Given the description of an element on the screen output the (x, y) to click on. 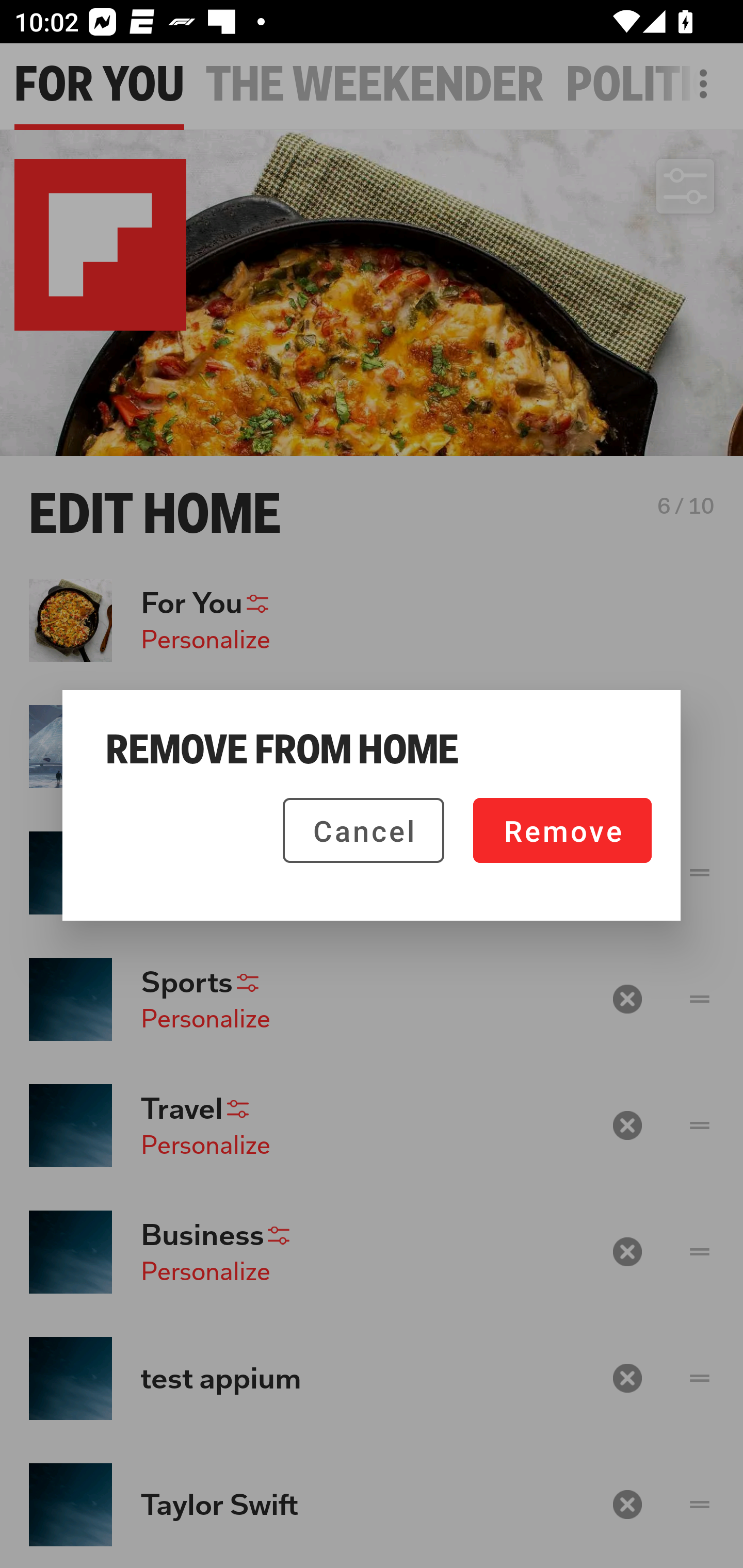
Cancel (363, 830)
Remove (562, 830)
